Given the description of an element on the screen output the (x, y) to click on. 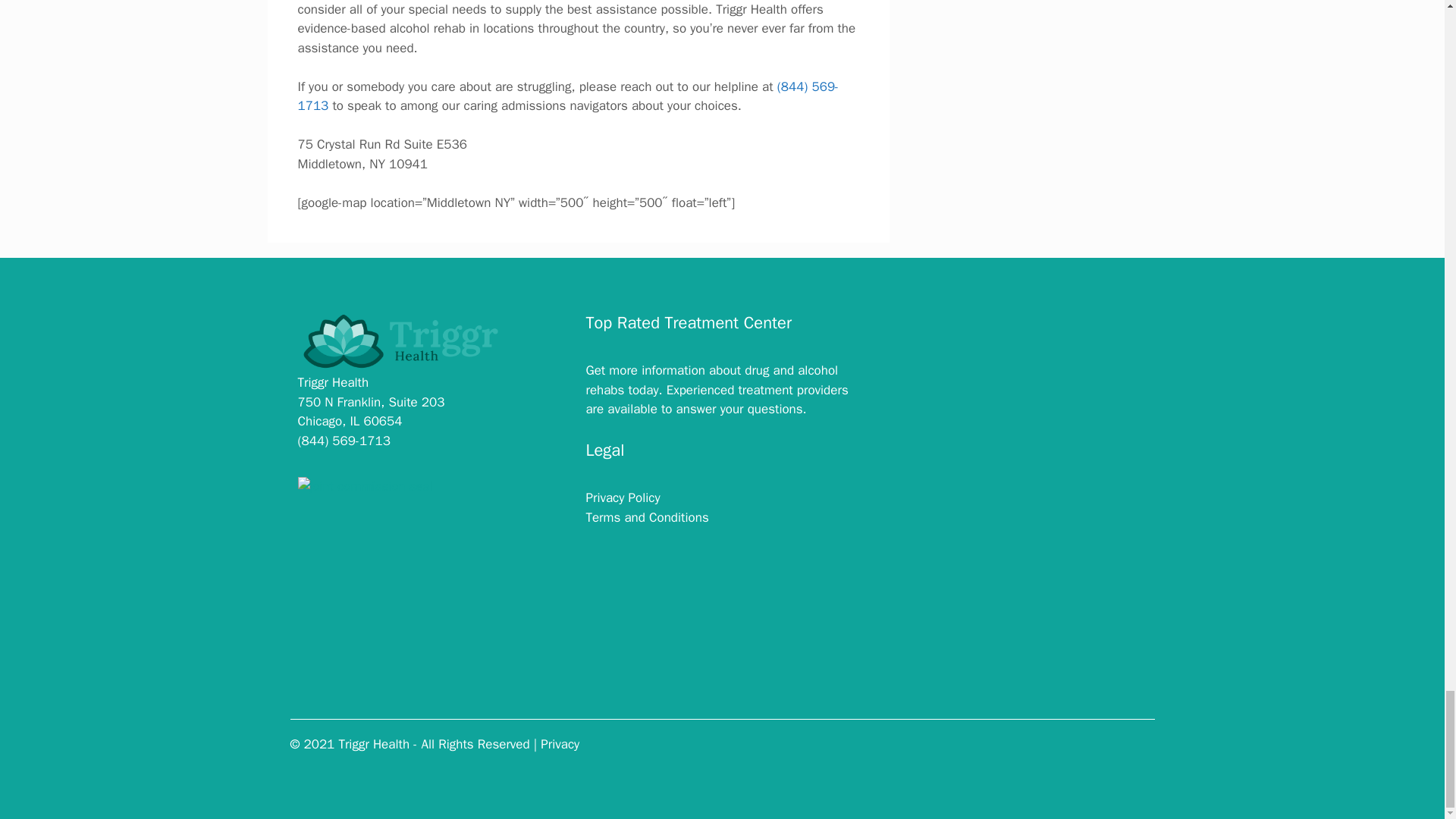
Privacy Policy (622, 497)
Terms and Conditions (646, 517)
